Given the description of an element on the screen output the (x, y) to click on. 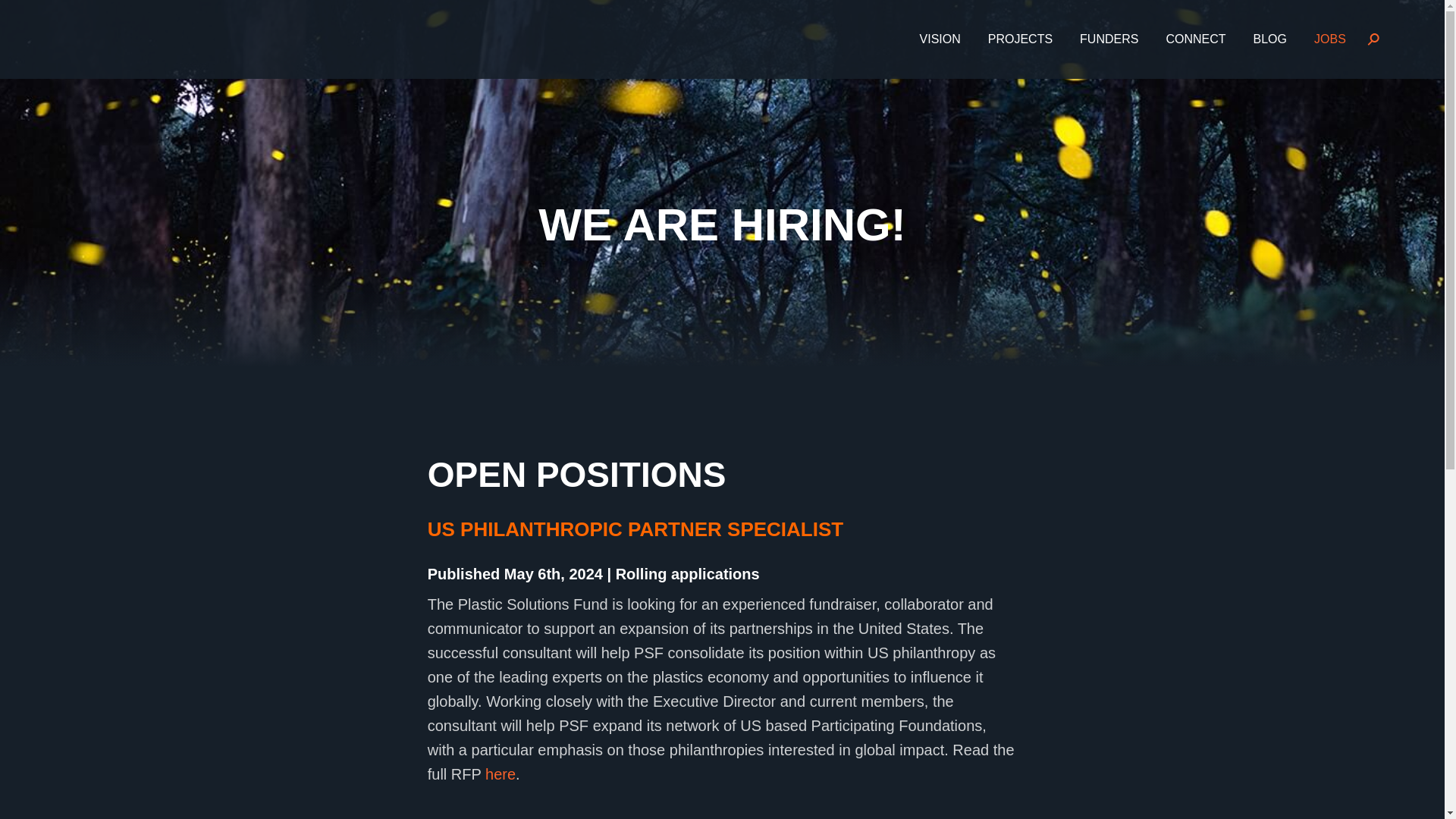
PROJECTS (1019, 39)
CONNECT (1195, 39)
here (499, 773)
US PHILANTHROPIC PARTNER SPECIALIST (635, 528)
FUNDERS (1108, 39)
